Given the description of an element on the screen output the (x, y) to click on. 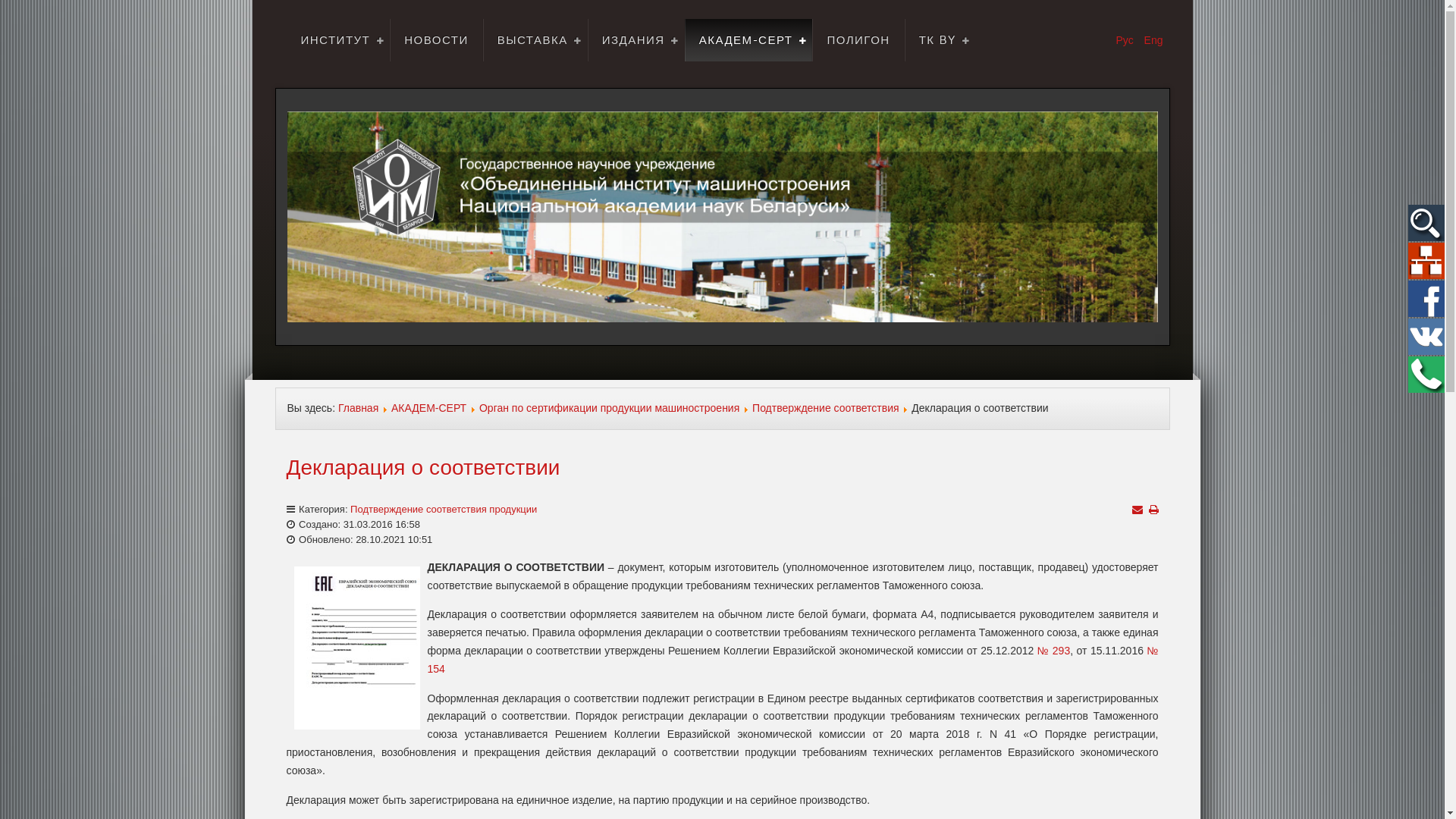
Eng Element type: text (1153, 40)
E-mail Element type: hover (1136, 509)
